Given the description of an element on the screen output the (x, y) to click on. 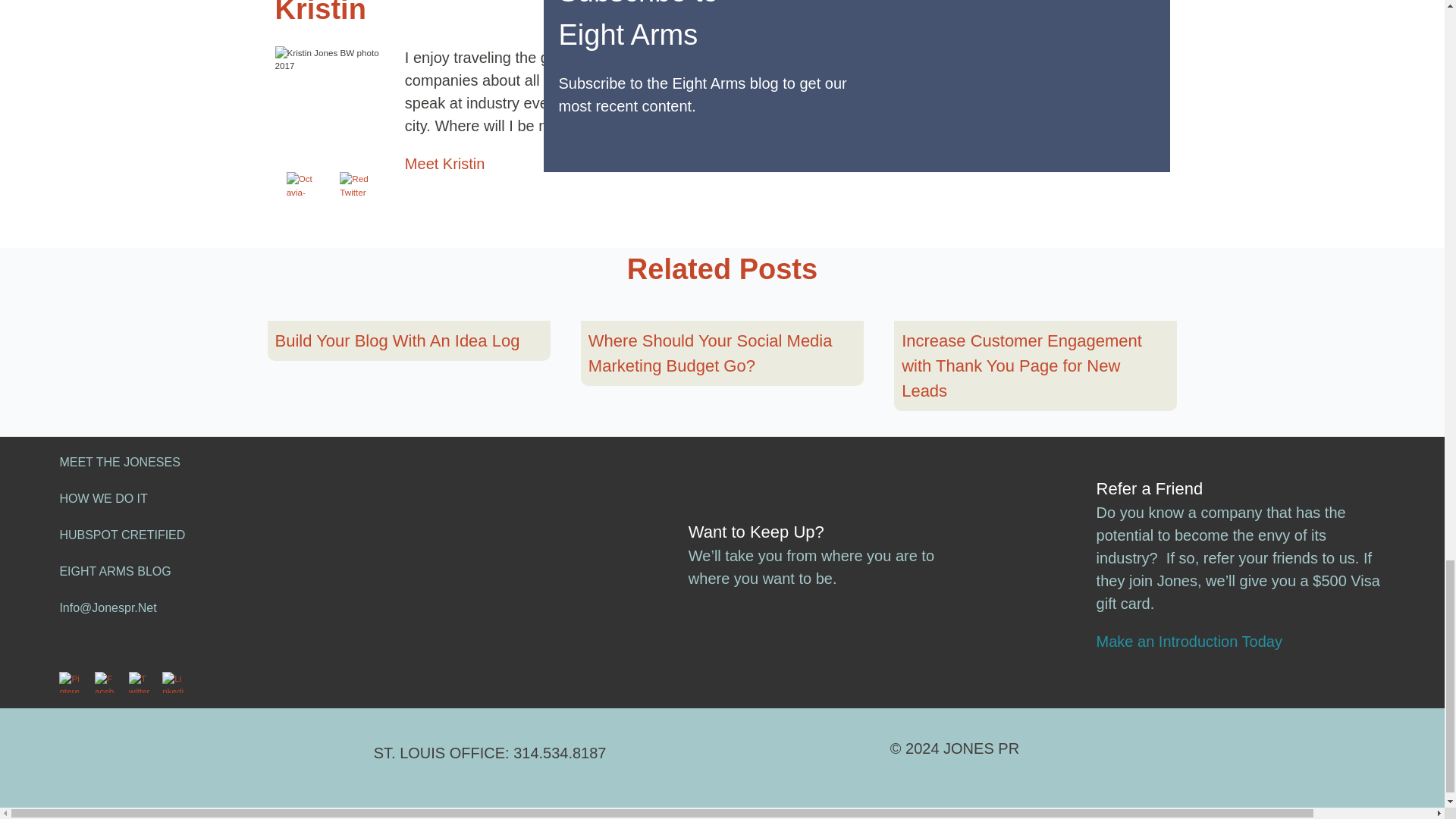
Meet Kristin (444, 163)
HOW WE DO IT (103, 498)
MEET THE JONESES (119, 461)
EIGHT ARMS BLOG (114, 571)
Build Your Blog With An Idea Log (397, 340)
Where Should Your Social Media Marketing Budget Go? (722, 353)
HUBSPOT CRETIFIED (121, 534)
